Given the description of an element on the screen output the (x, y) to click on. 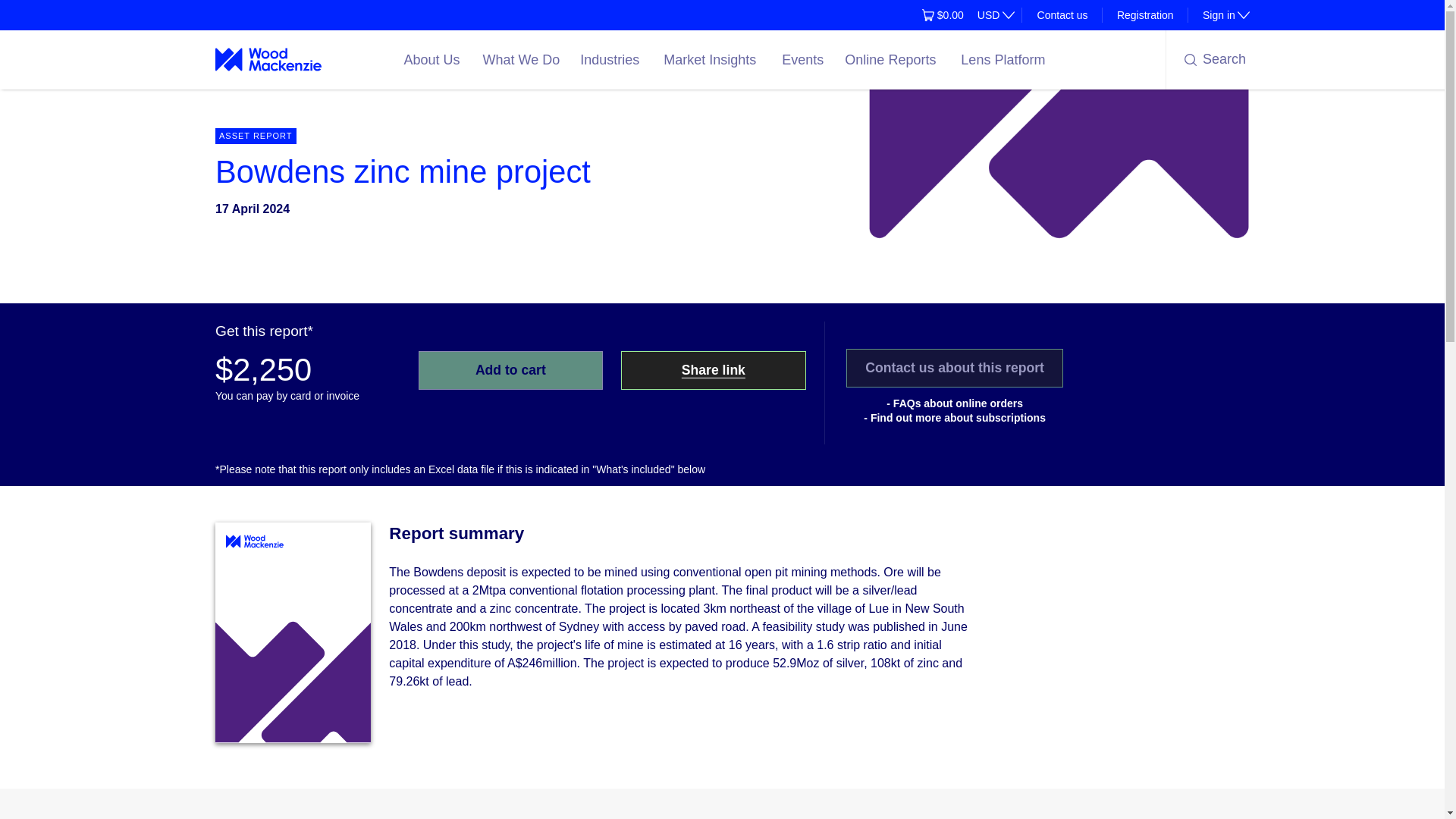
Registration (1145, 15)
About Us (434, 59)
Contact us (1062, 15)
USD (1218, 15)
